Given the description of an element on the screen output the (x, y) to click on. 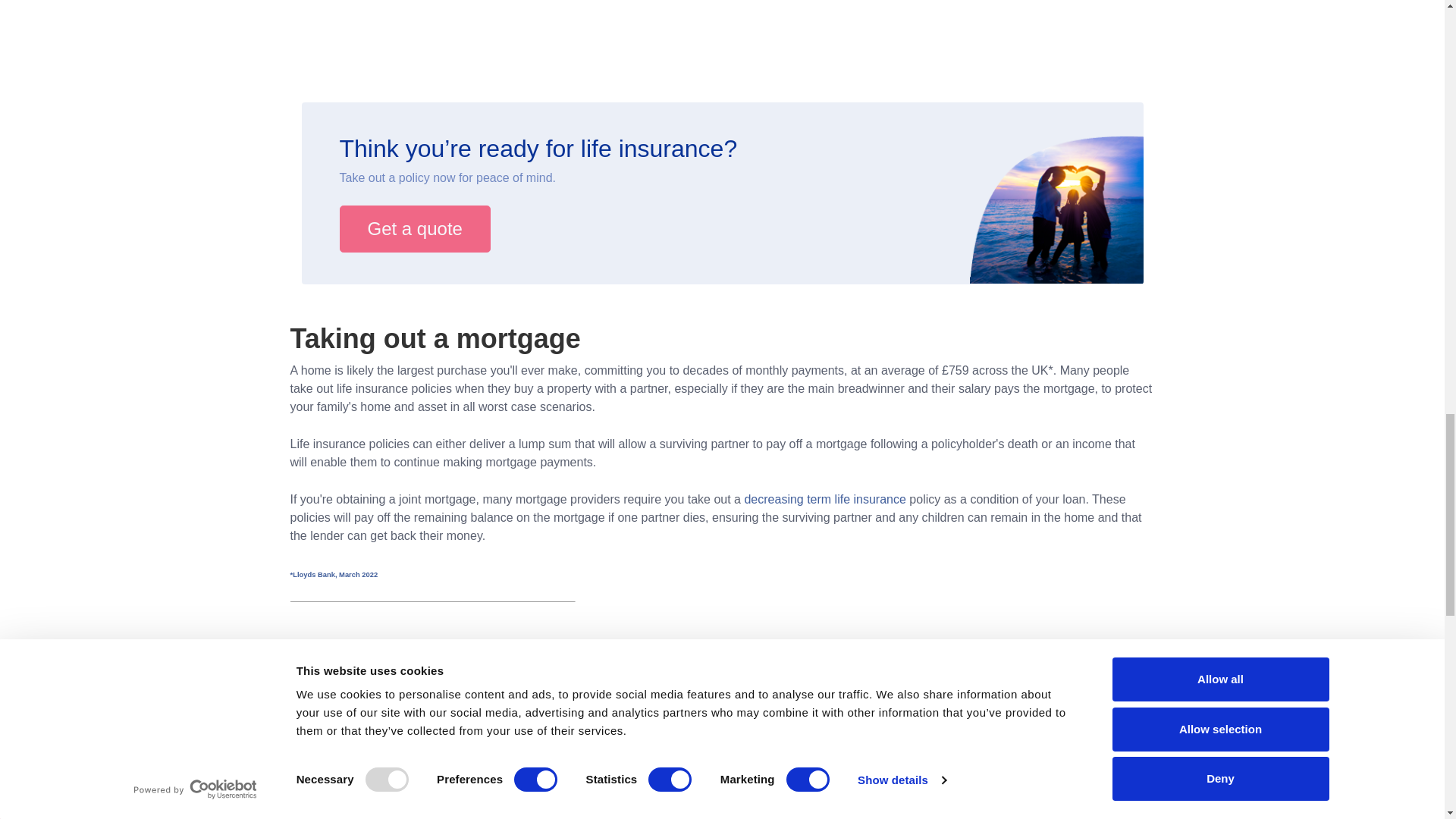
Avg. mortgage payment - Lloyds Bank (333, 574)
decreasing term life insurance (824, 499)
